Given the description of an element on the screen output the (x, y) to click on. 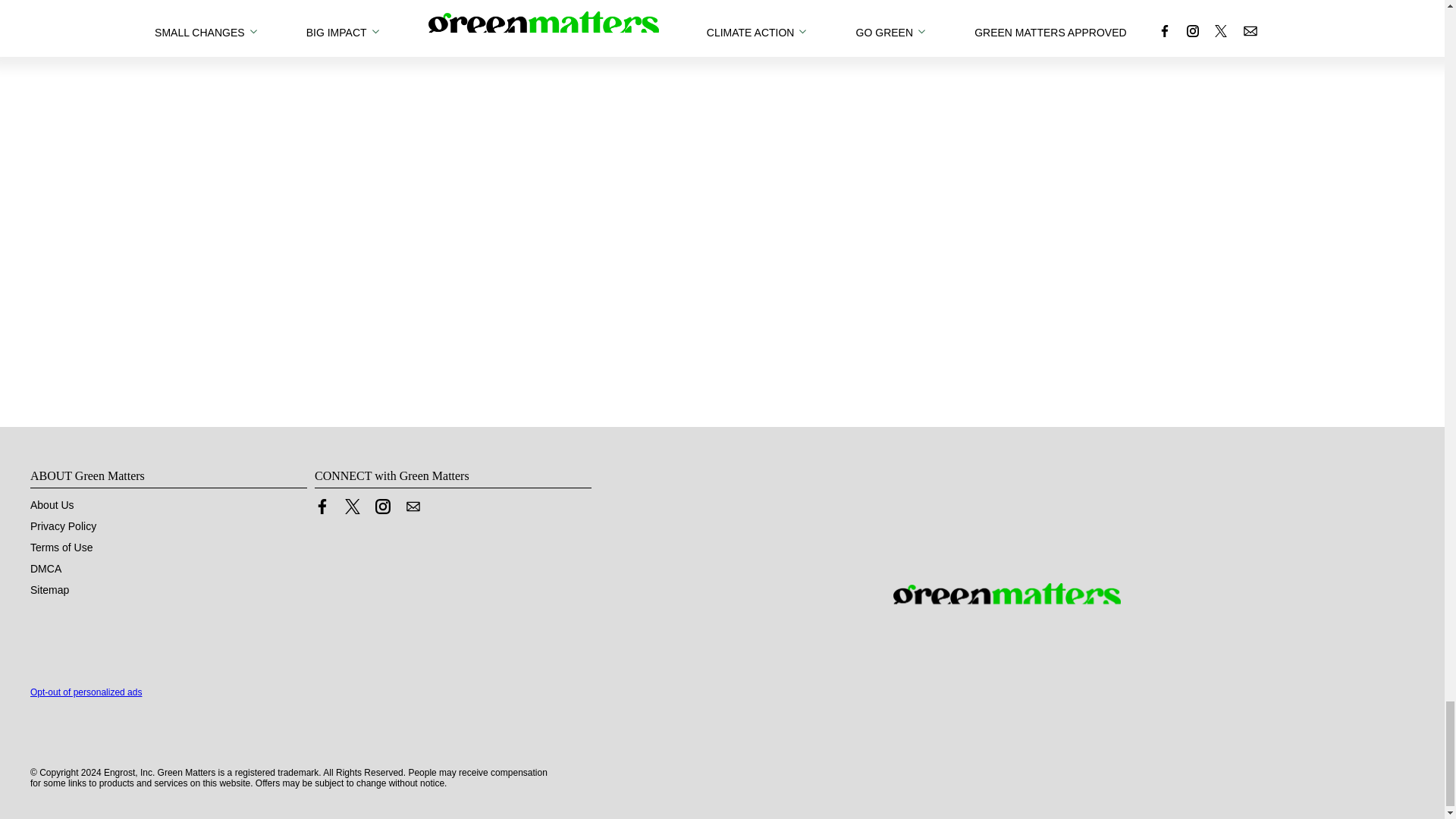
Privacy Policy (63, 526)
DMCA (45, 568)
Sitemap (49, 589)
Link to Facebook (322, 506)
About Us (52, 504)
Terms of Use (61, 547)
Link to X (352, 506)
Contact us by Email (413, 506)
Link to Instagram (382, 506)
